Given the description of an element on the screen output the (x, y) to click on. 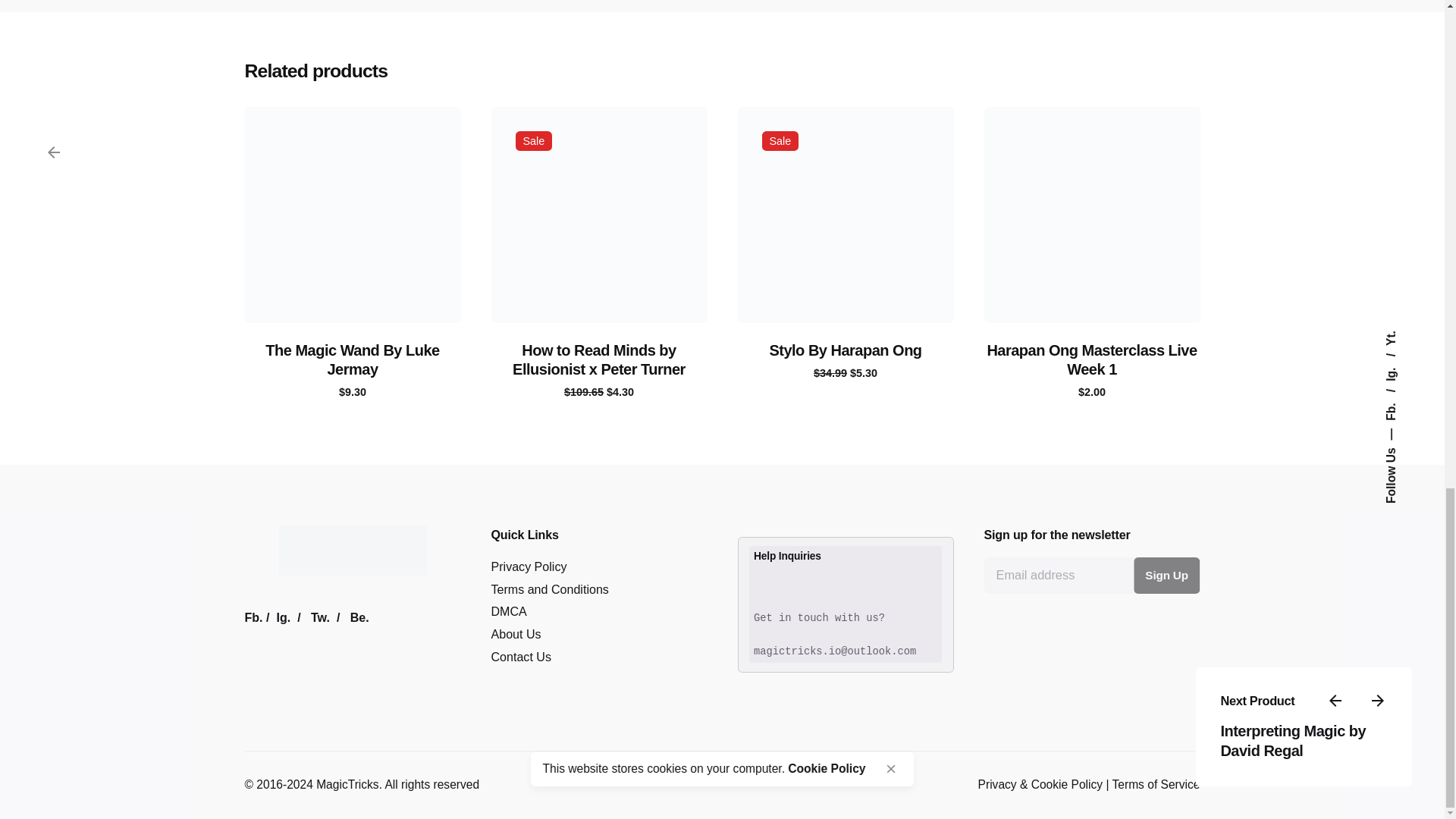
Sign Up (1166, 575)
